Given the description of an element on the screen output the (x, y) to click on. 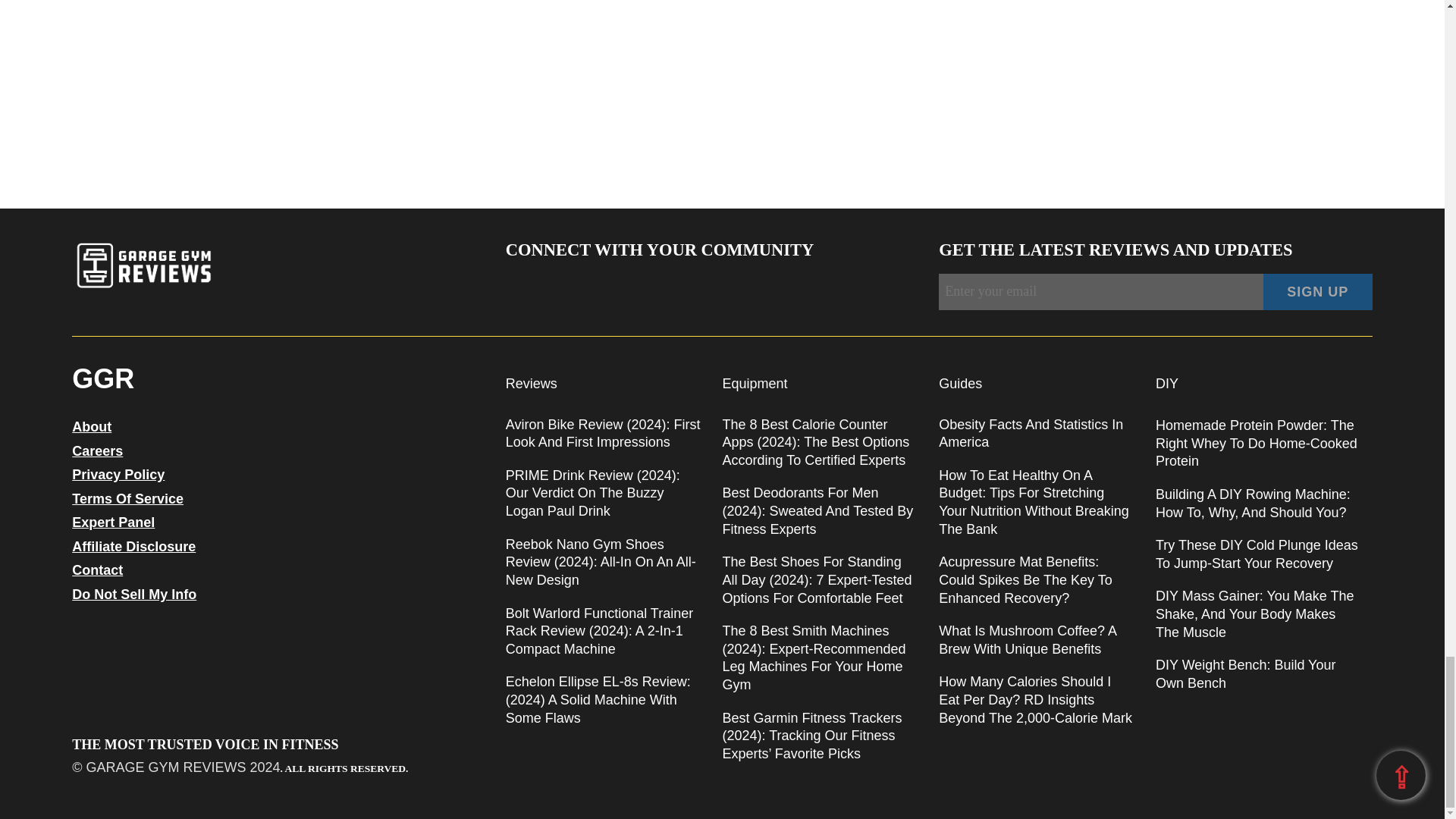
Reviews (531, 383)
Equipment (754, 383)
Sign Up (1318, 291)
